Given the description of an element on the screen output the (x, y) to click on. 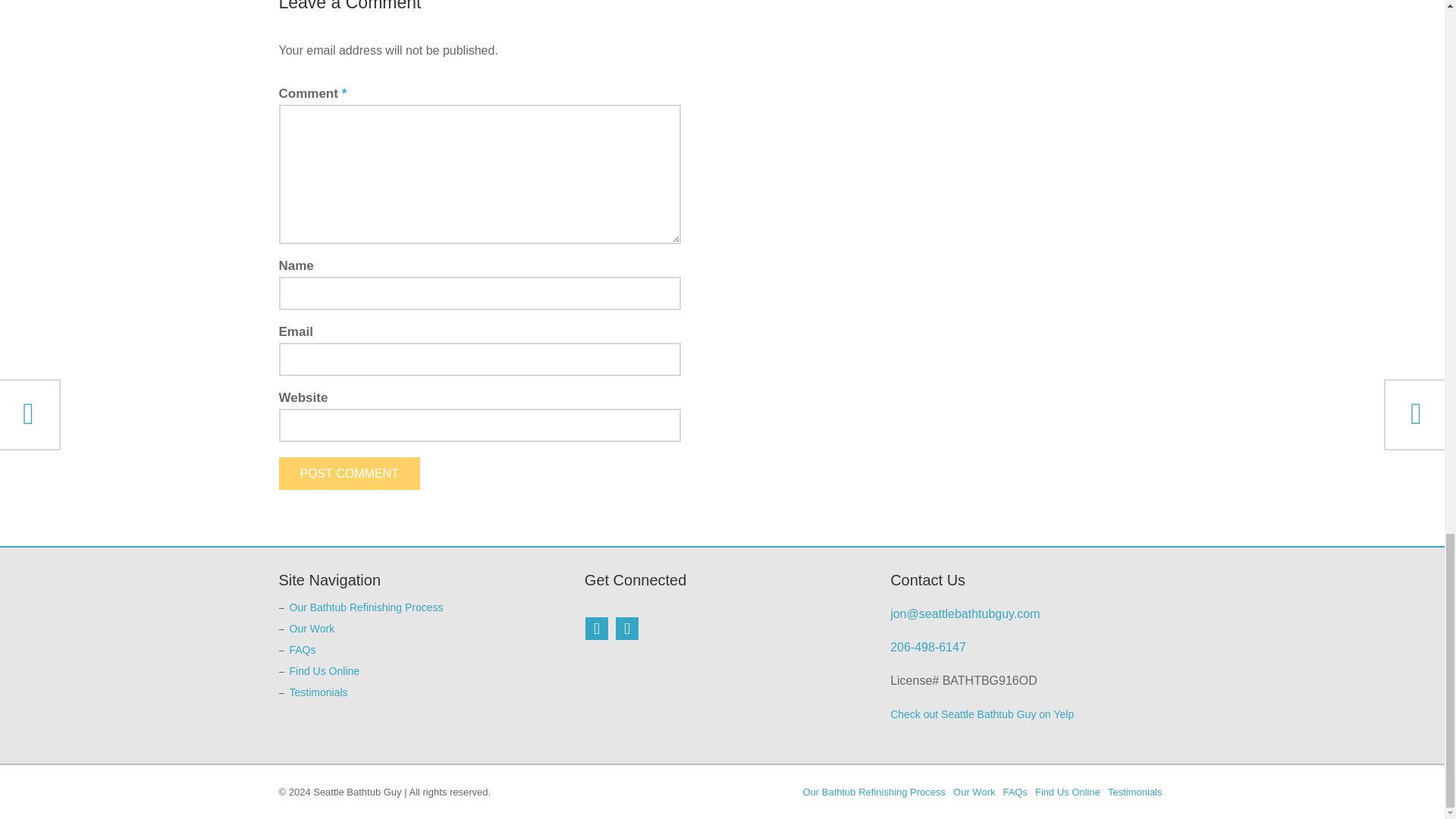
Find Us Online (324, 671)
Our Work (311, 628)
POST COMMENT (349, 473)
Our Bathtub Refinishing Process (366, 607)
Facebook (596, 628)
FAQs (302, 649)
Twitter (626, 628)
